Given the description of an element on the screen output the (x, y) to click on. 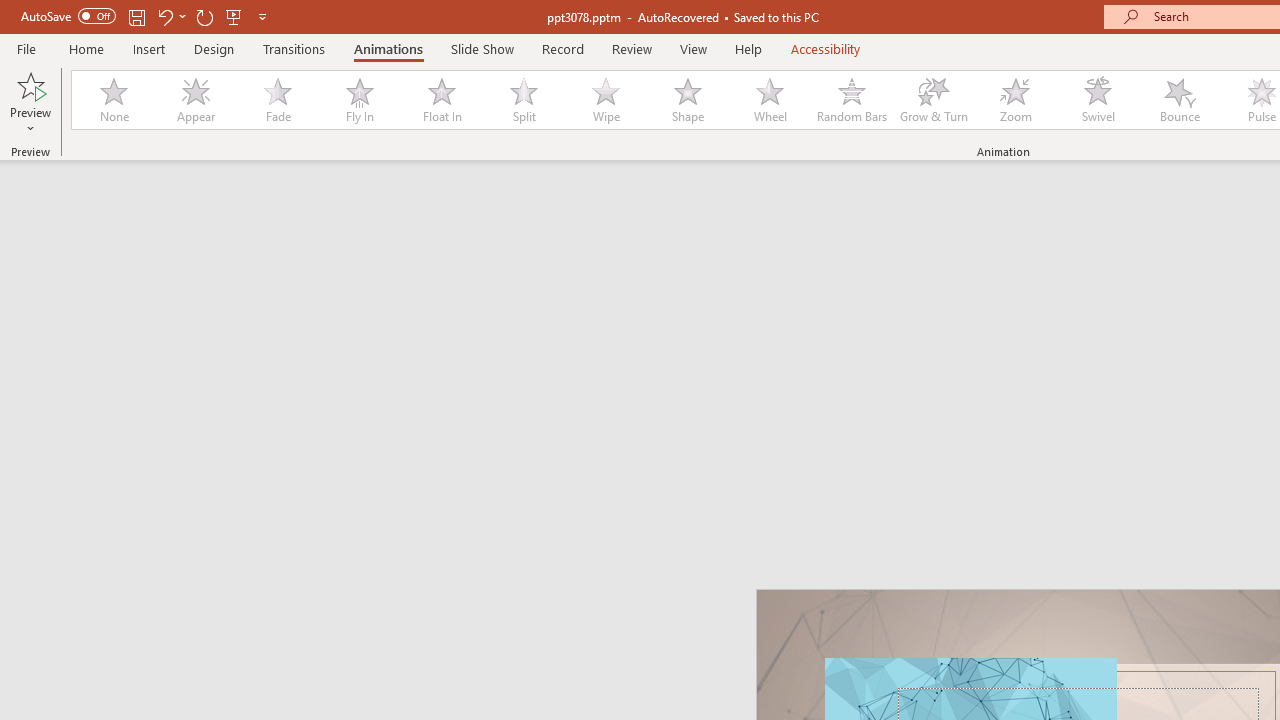
Split (523, 100)
Float In (441, 100)
Appear (195, 100)
None (113, 100)
Wheel (770, 100)
